Given the description of an element on the screen output the (x, y) to click on. 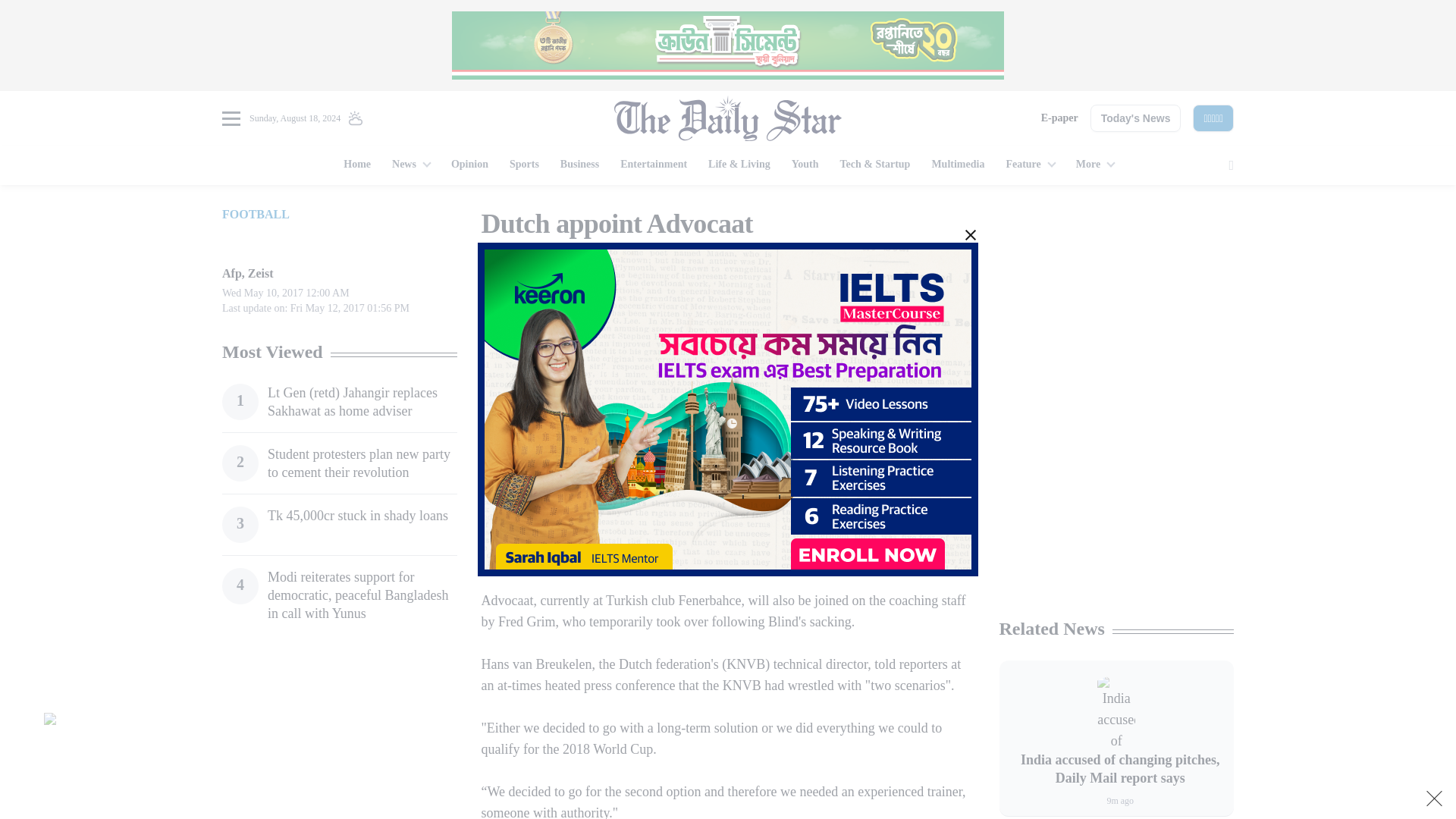
Sports (524, 165)
Business (579, 165)
Today's News (1135, 117)
3rd party ad content (1116, 506)
News (410, 165)
Multimedia (956, 165)
Opinion (469, 165)
3rd party ad content (338, 736)
3rd party ad content (1116, 302)
